Given the description of an element on the screen output the (x, y) to click on. 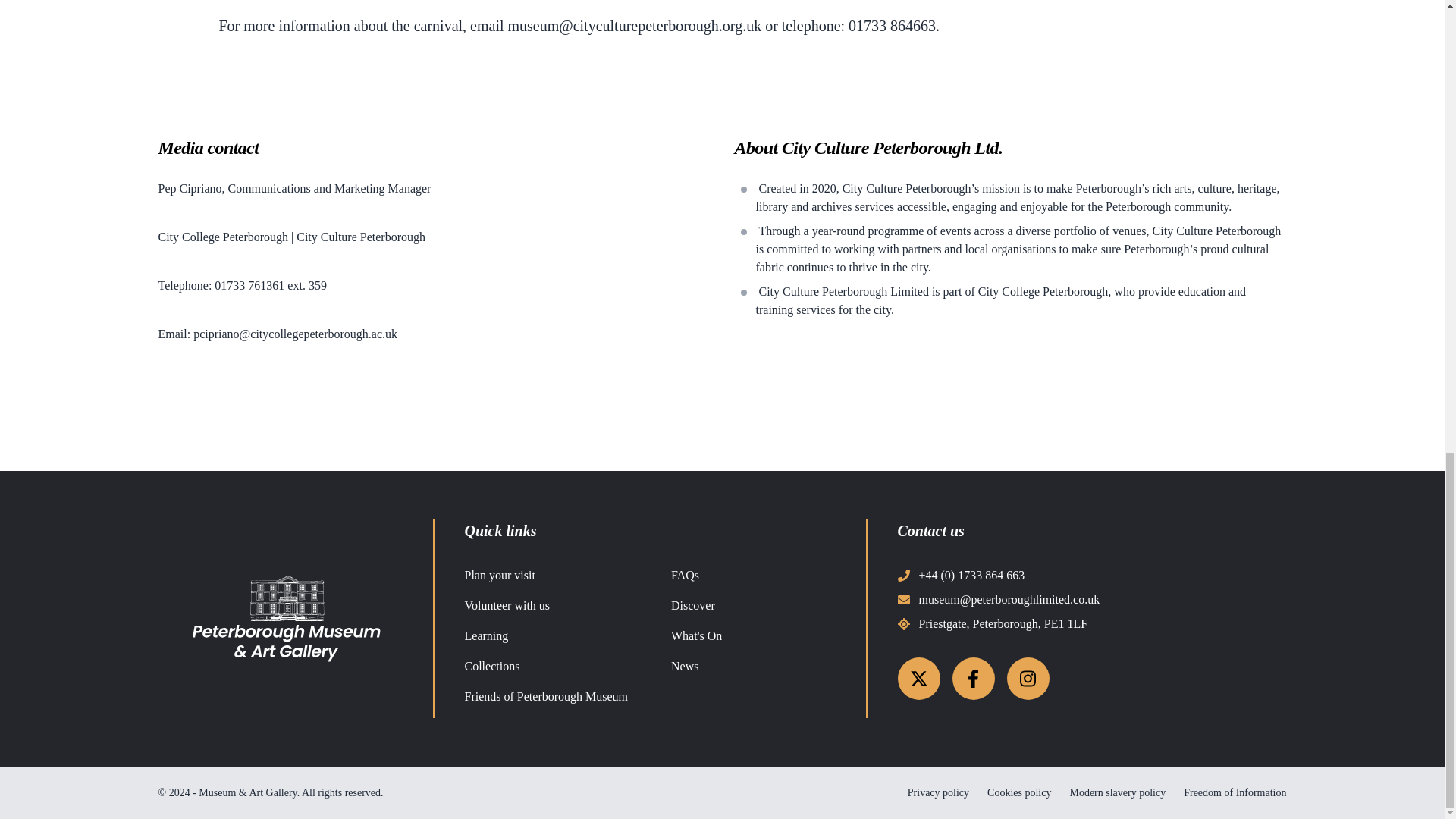
Volunteer with us (507, 604)
FAQs (684, 574)
Learning (486, 635)
Plan your visit (499, 574)
Collections (491, 666)
What's On (696, 635)
News (684, 666)
Discover (692, 604)
Friends of Peterborough Museum (545, 696)
